Given the description of an element on the screen output the (x, y) to click on. 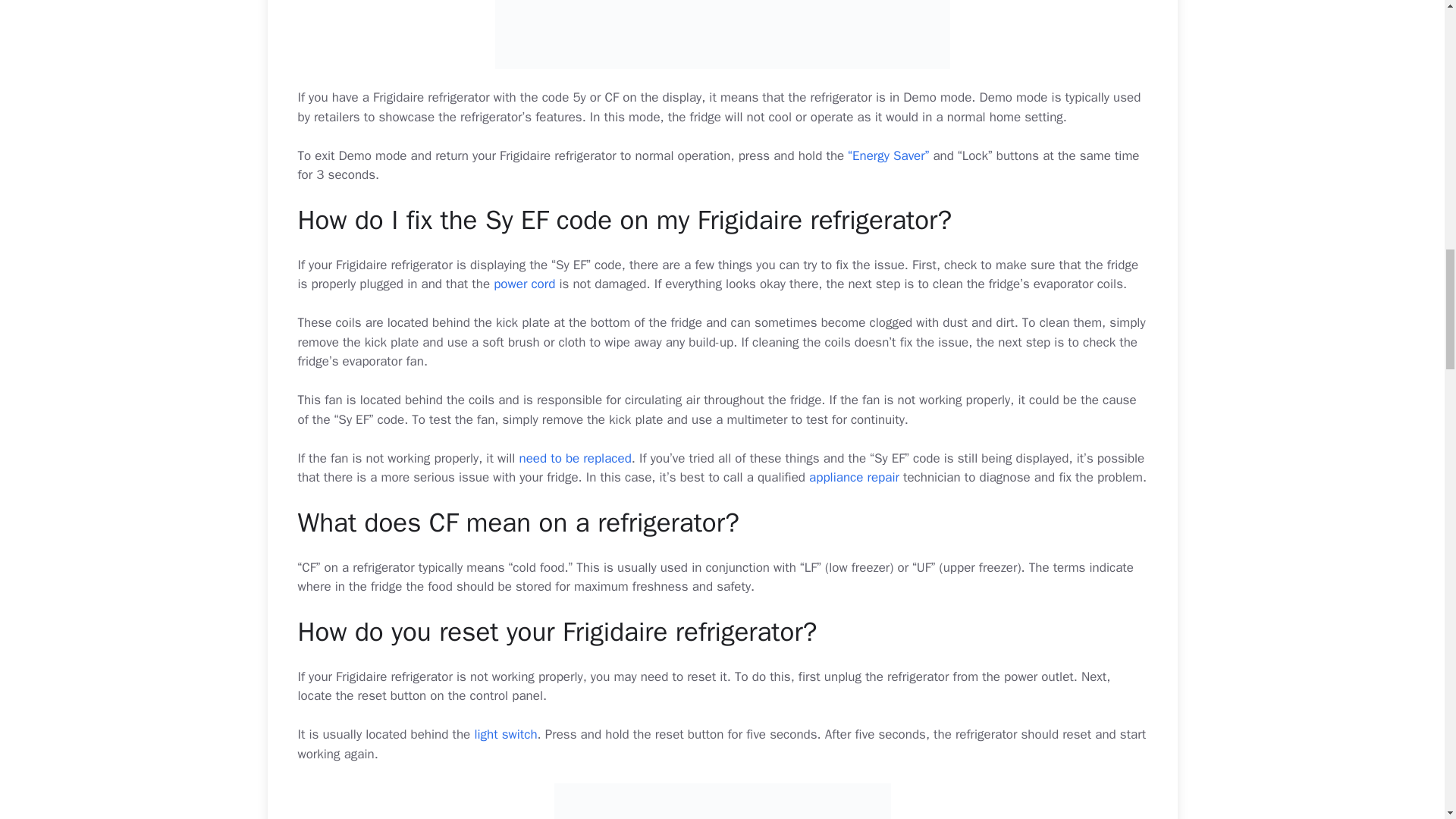
need to be replaced (574, 458)
power cord (523, 283)
light switch (505, 734)
appliance repair (854, 477)
